Given the description of an element on the screen output the (x, y) to click on. 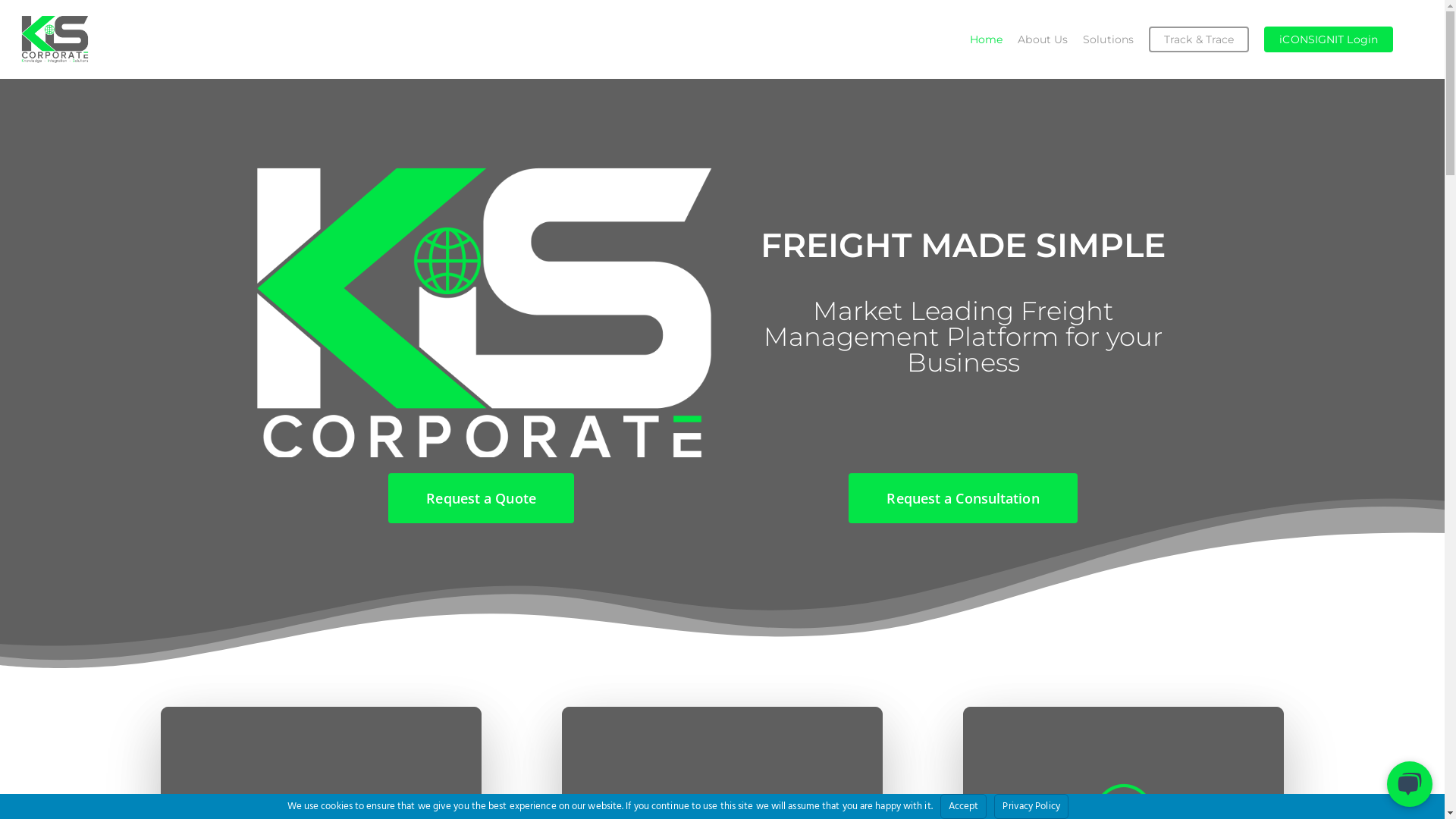
iCONSIGNIT Login Element type: text (1328, 39)
About Us Element type: text (1042, 39)
Track & Trace Element type: text (1198, 39)
Home Element type: text (986, 39)
Request a Quote Element type: text (481, 498)
Solutions Element type: text (1108, 39)
Request a Consultation Element type: text (962, 498)
